Given the description of an element on the screen output the (x, y) to click on. 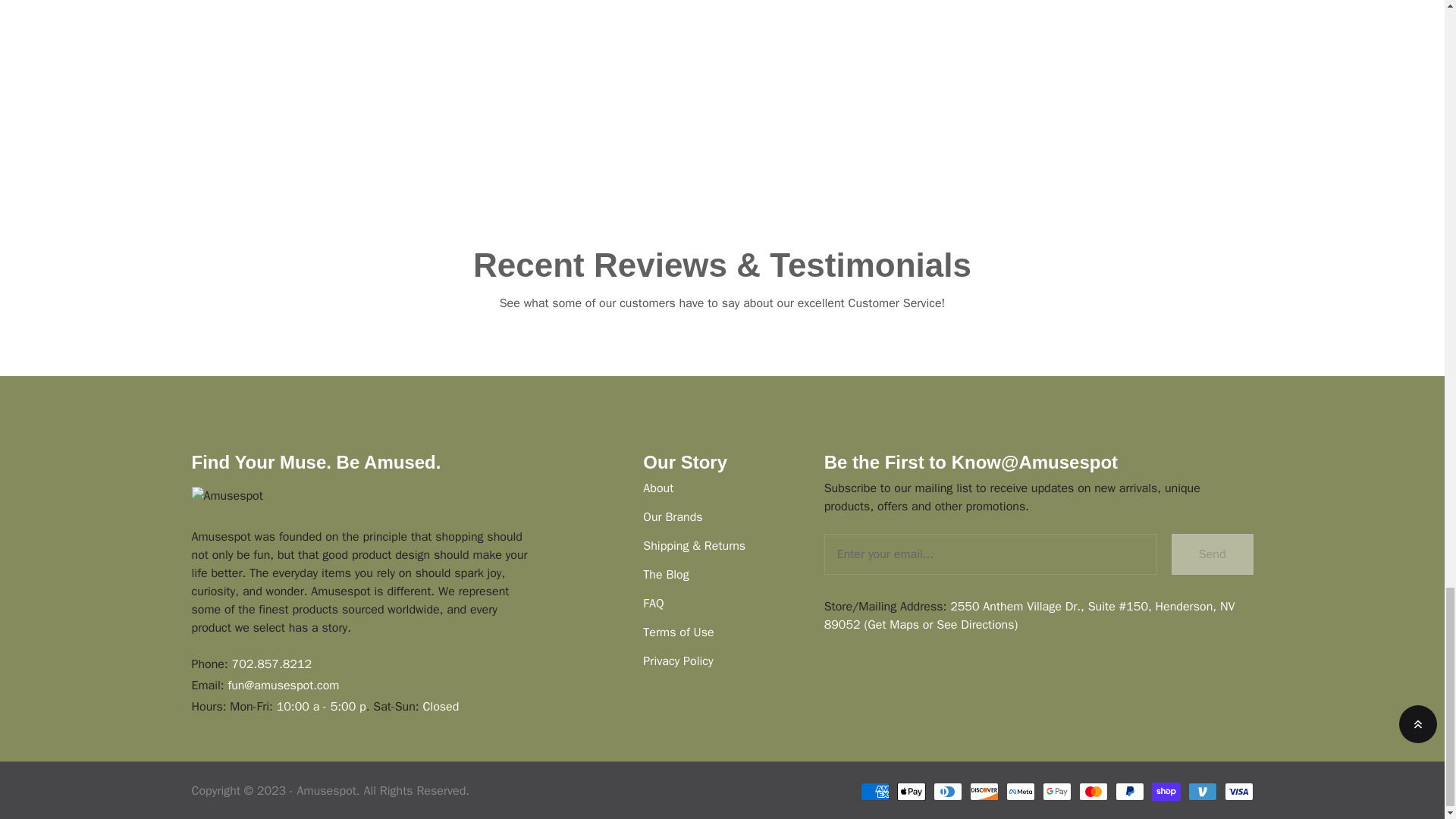
Discover (983, 791)
Meta Pay (1019, 791)
Google Pay (1056, 791)
Diners Club (946, 791)
American Express (874, 791)
Mastercard (1092, 791)
Apple Pay (910, 791)
